Given the description of an element on the screen output the (x, y) to click on. 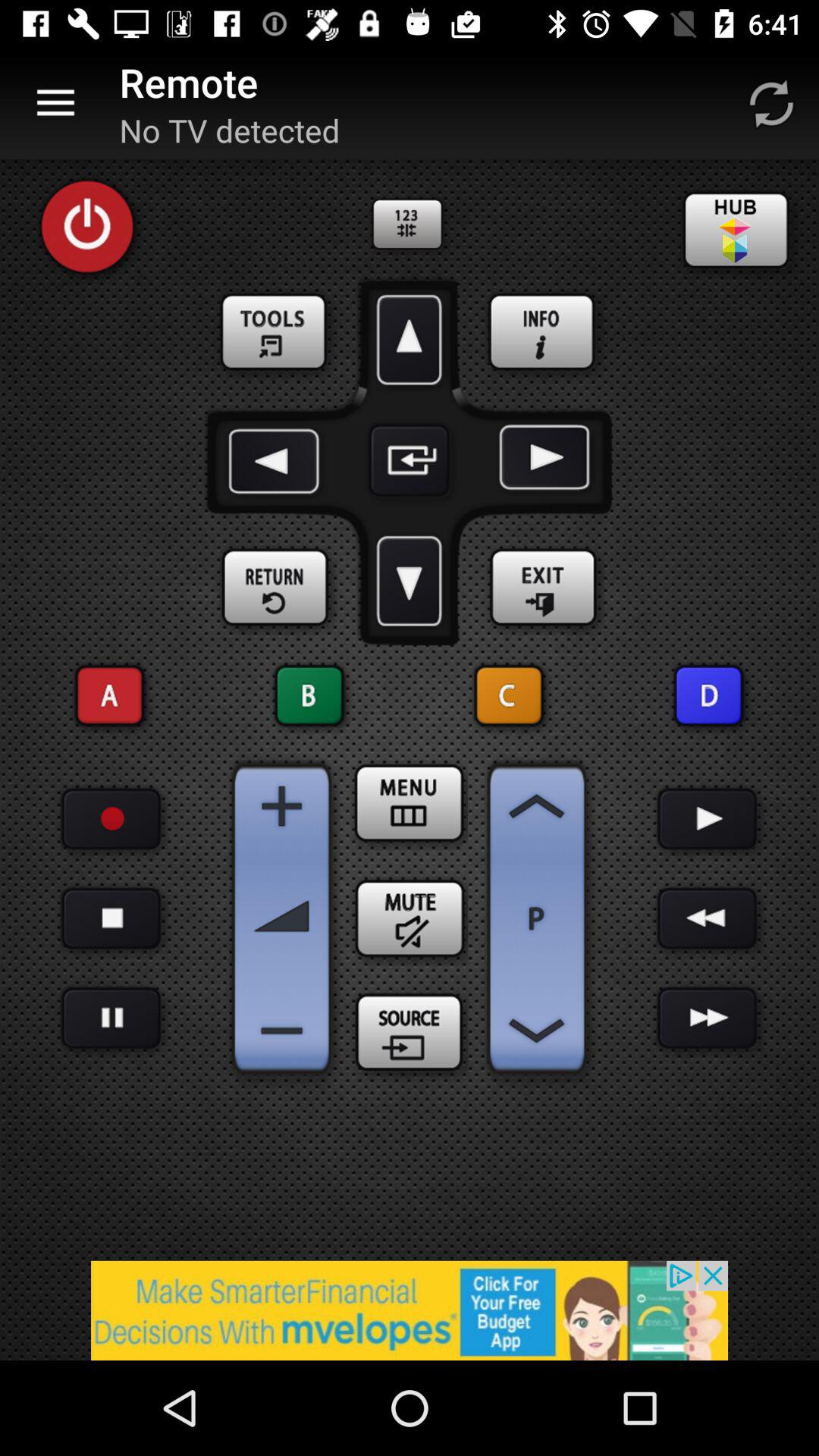
go to next (541, 460)
